Given the description of an element on the screen output the (x, y) to click on. 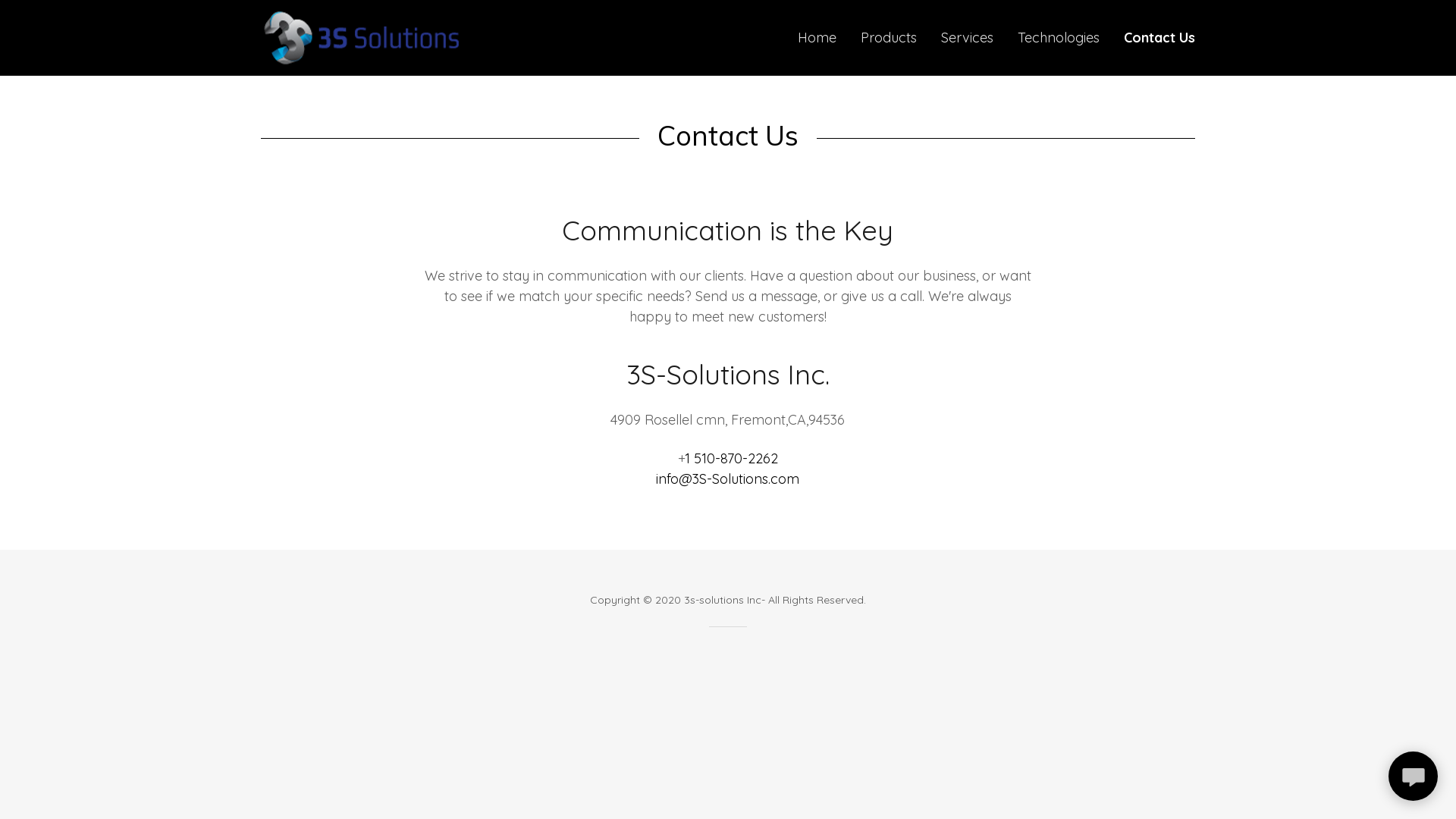
Home Element type: text (816, 37)
Products Element type: text (888, 37)
1 510-870-2262 Element type: text (731, 458)
Technologies Element type: text (1058, 37)
Contact Us Element type: text (1159, 37)
info@3S-Solutions.com Element type: text (727, 478)
3S-Solutions Element type: hover (360, 35)
Services Element type: text (966, 37)
